Given the description of an element on the screen output the (x, y) to click on. 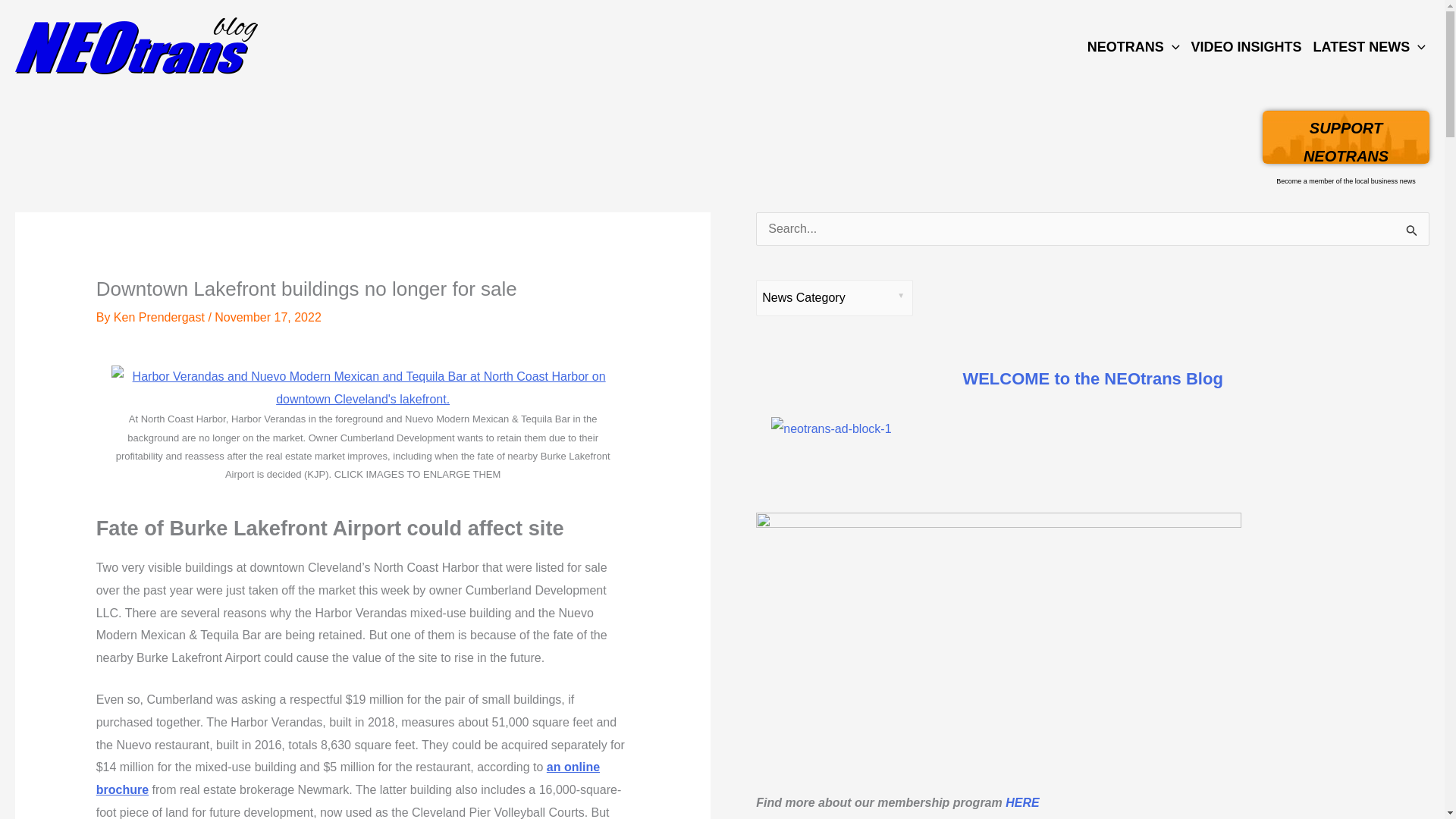
View all posts by Ken Prendergast (1345, 136)
VIDEO INSIGHTS (160, 317)
LATEST NEWS (1243, 45)
NEOTRANS (1367, 45)
